Given the description of an element on the screen output the (x, y) to click on. 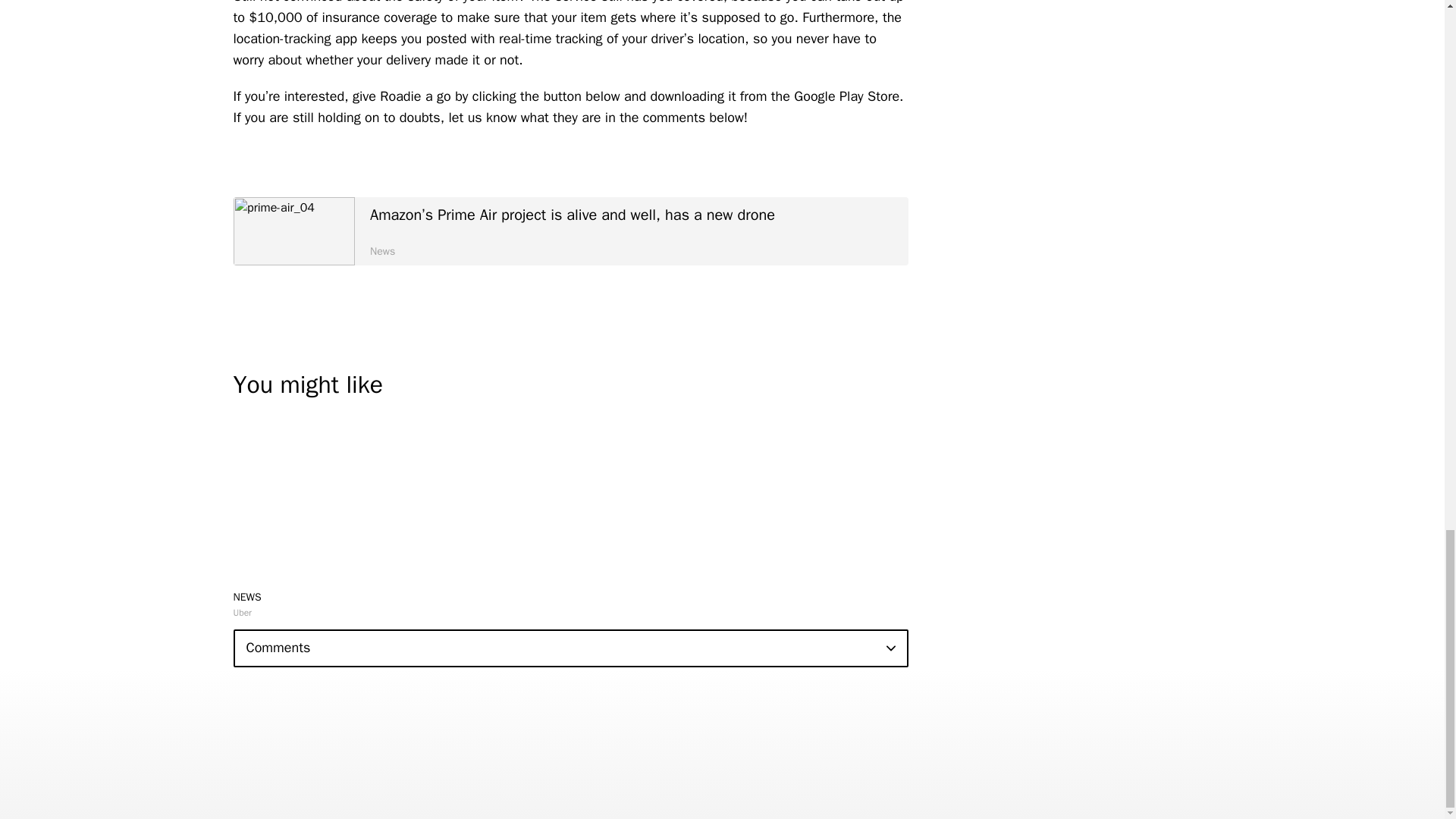
NEWS (247, 596)
Uber (241, 612)
Comments (570, 648)
